Given the description of an element on the screen output the (x, y) to click on. 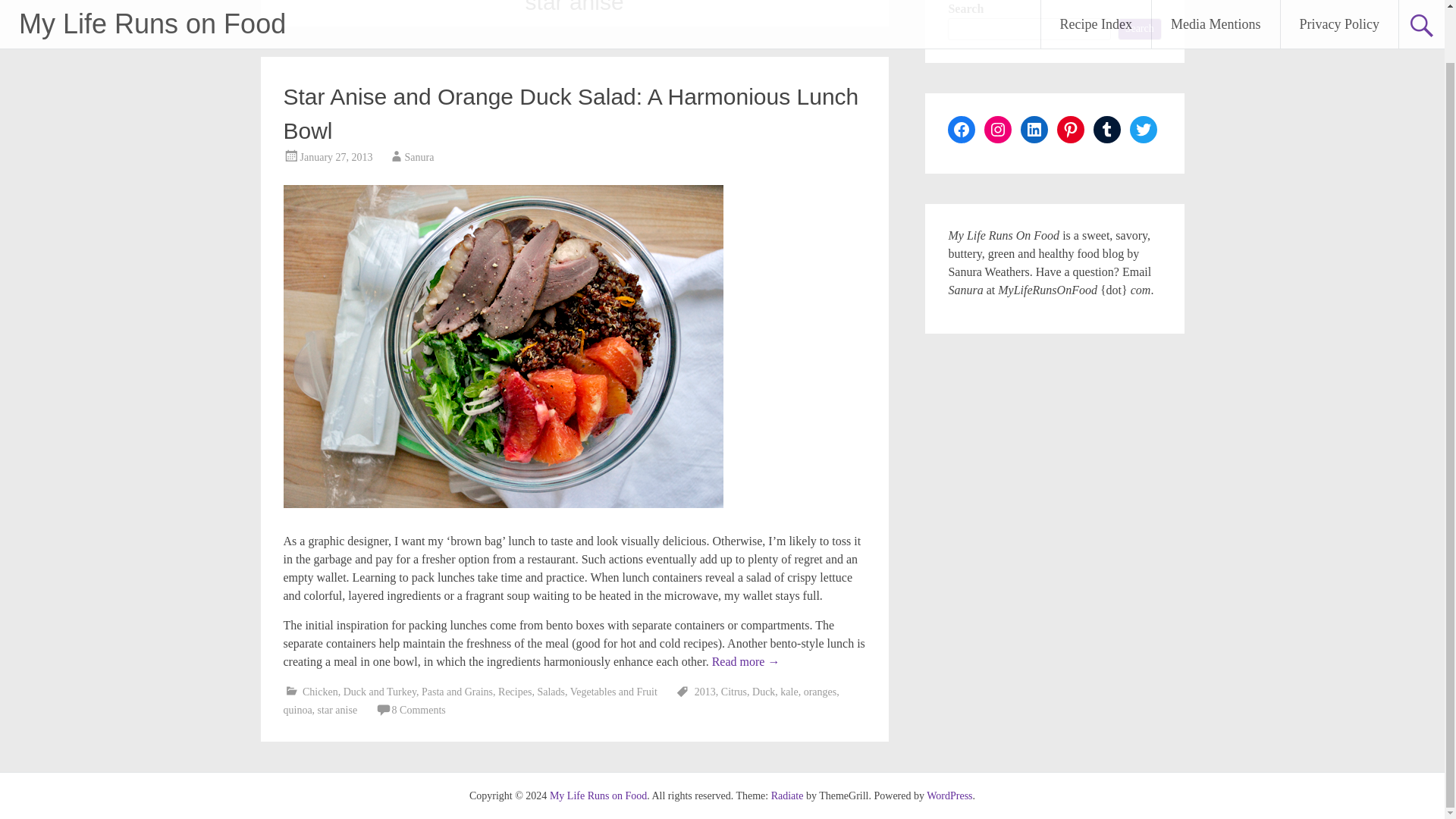
quinoa (298, 709)
kale (788, 691)
oranges (820, 691)
WordPress (949, 795)
Salads (550, 691)
star anise (336, 709)
Instagram (997, 129)
Facebook (961, 129)
2013 (705, 691)
Citrus (733, 691)
